Given the description of an element on the screen output the (x, y) to click on. 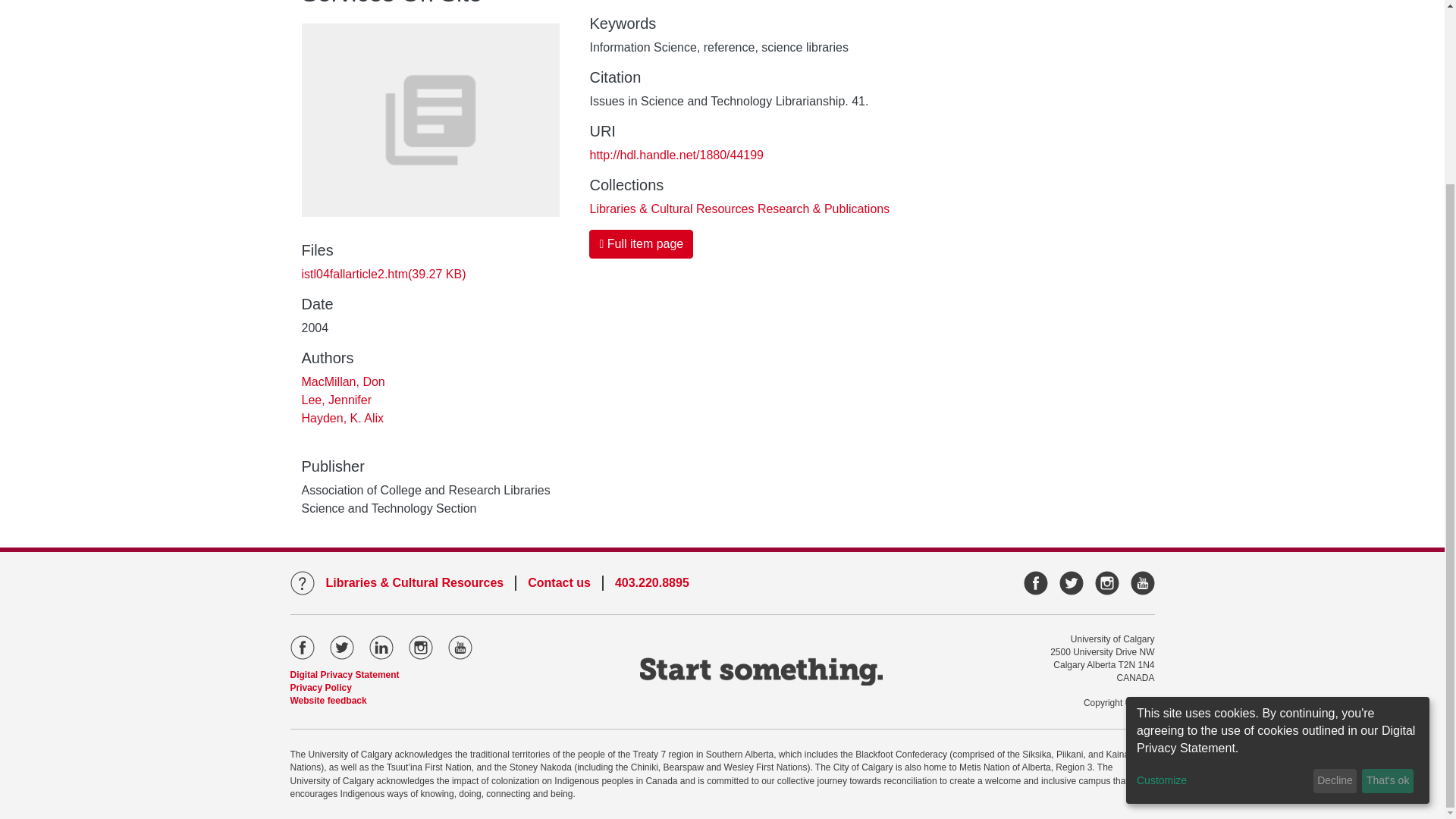
MacMillan, Don (343, 381)
403.220.8895 (651, 582)
Hayden, K. Alix (342, 418)
Contact us (559, 582)
Full item page (641, 244)
Lee, Jennifer (336, 399)
